Given the description of an element on the screen output the (x, y) to click on. 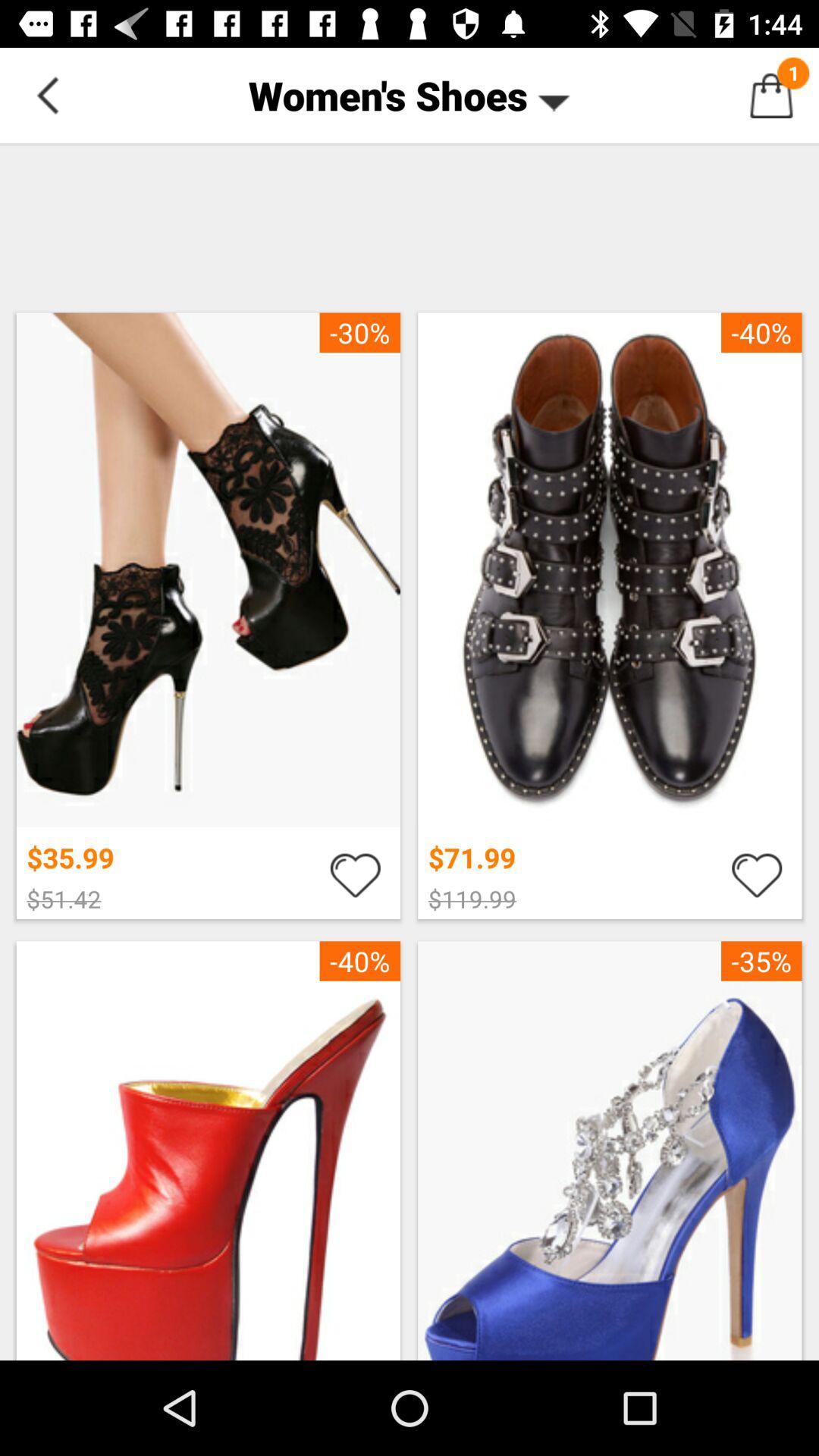
click on third option (208, 1146)
click on the  second heart symbol (756, 873)
select the cart at the right corner (771, 95)
